Given the description of an element on the screen output the (x, y) to click on. 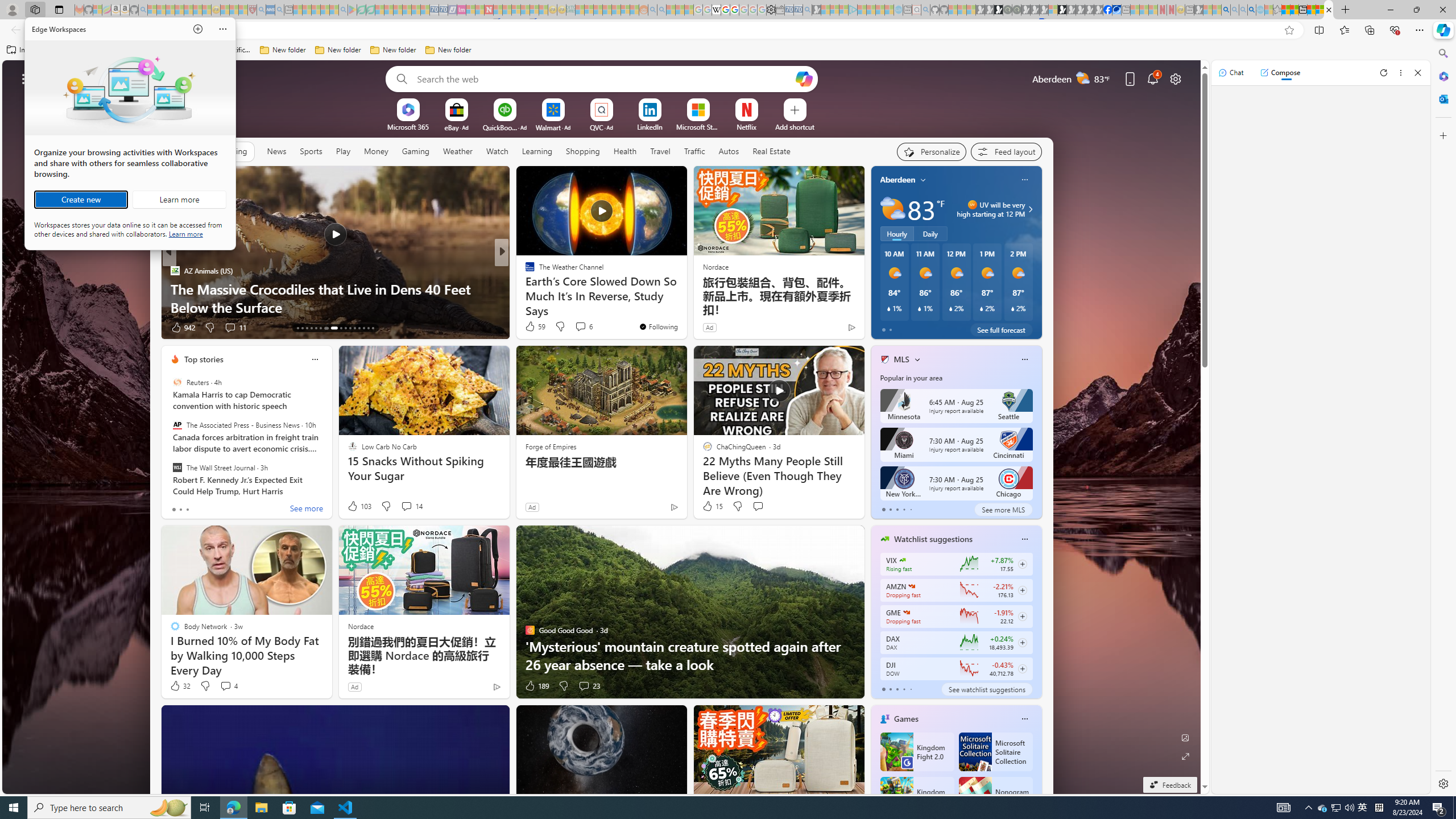
UV will be very high starting at 12 PM (1028, 208)
Travel (660, 151)
Kinda Frugal - MSN - Sleeping (616, 9)
Real Estate (771, 151)
AutomationID: tab-22 (345, 328)
Morning Carpool (524, 270)
View comments 23 Comment (583, 685)
MSN - Sleeping (1198, 9)
